Given the description of an element on the screen output the (x, y) to click on. 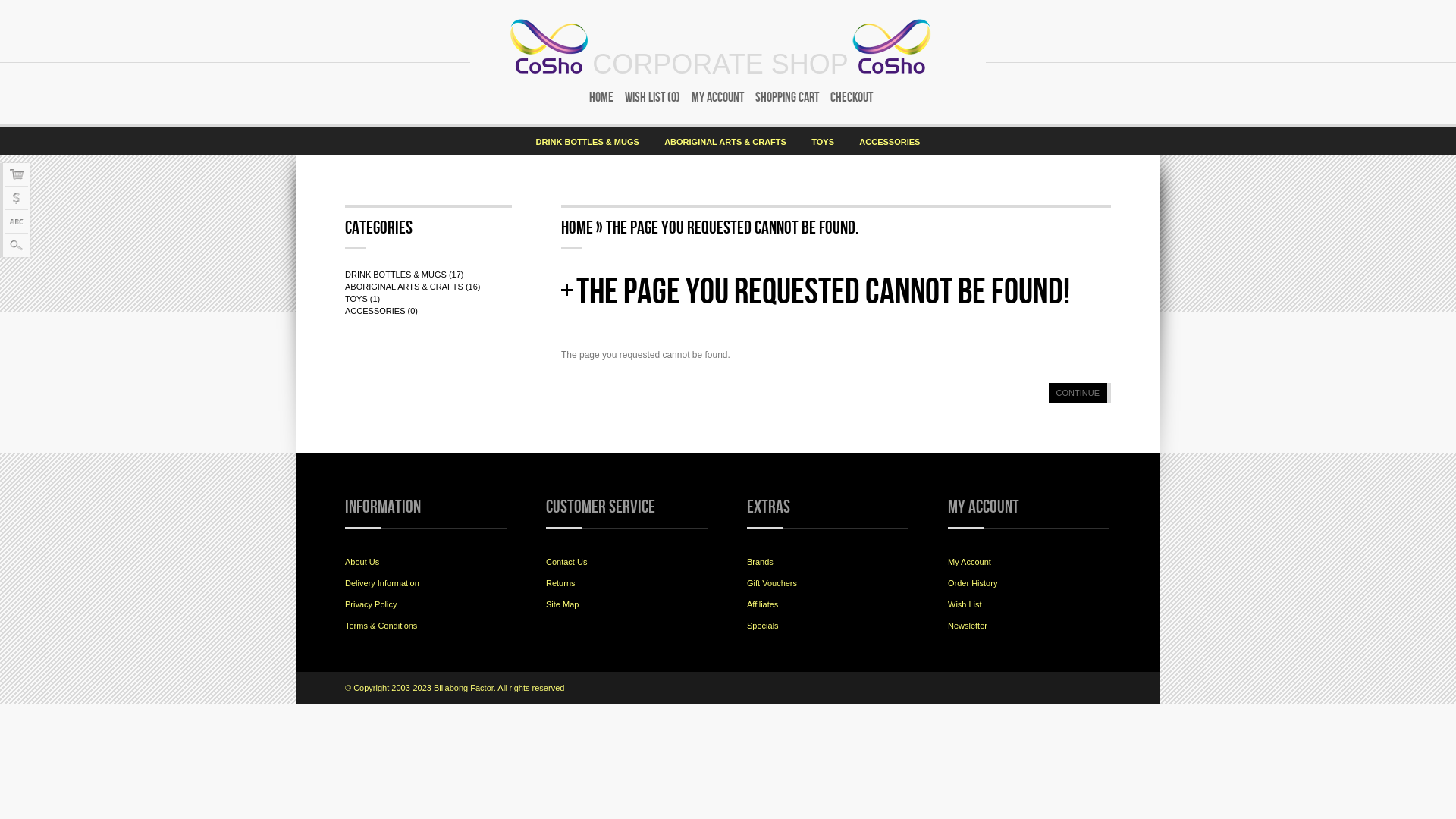
Newsletter Element type: text (967, 625)
Terms & Conditions Element type: text (381, 625)
ABORIGINAL ARTS & CRAFTS Element type: text (724, 141)
Wish List Element type: text (964, 603)
Returns Element type: text (560, 582)
CORPORATE SHOP Element type: text (720, 70)
Checkout Element type: text (848, 97)
TOYS Element type: text (822, 141)
Home Element type: text (577, 227)
TOYS (1) Element type: text (362, 298)
Contact Us Element type: text (566, 561)
Privacy Policy Element type: text (370, 603)
Corporate Shop Element type: hover (548, 45)
The page you requested cannot be found. Element type: text (731, 227)
ACCESSORIES Element type: text (889, 141)
About Us Element type: text (362, 561)
Affiliates Element type: text (762, 603)
Shopping Cart Element type: text (783, 97)
ACCESSORIES (0) Element type: text (381, 310)
Delivery Information Element type: text (382, 582)
Wish List (0) Element type: text (648, 97)
DRINK BOTTLES & MUGS (17) Element type: text (404, 274)
My Account Element type: text (969, 561)
My Account Element type: text (714, 97)
Brands Element type: text (759, 561)
Gift Vouchers Element type: text (771, 582)
Order History Element type: text (972, 582)
Site Map Element type: text (562, 603)
ABORIGINAL ARTS & CRAFTS (16) Element type: text (412, 286)
CONTINUE Element type: text (1079, 392)
Corporate Shop Element type: hover (891, 45)
Home Element type: text (598, 97)
DRINK BOTTLES & MUGS Element type: text (587, 141)
Specials Element type: text (762, 625)
